Given the description of an element on the screen output the (x, y) to click on. 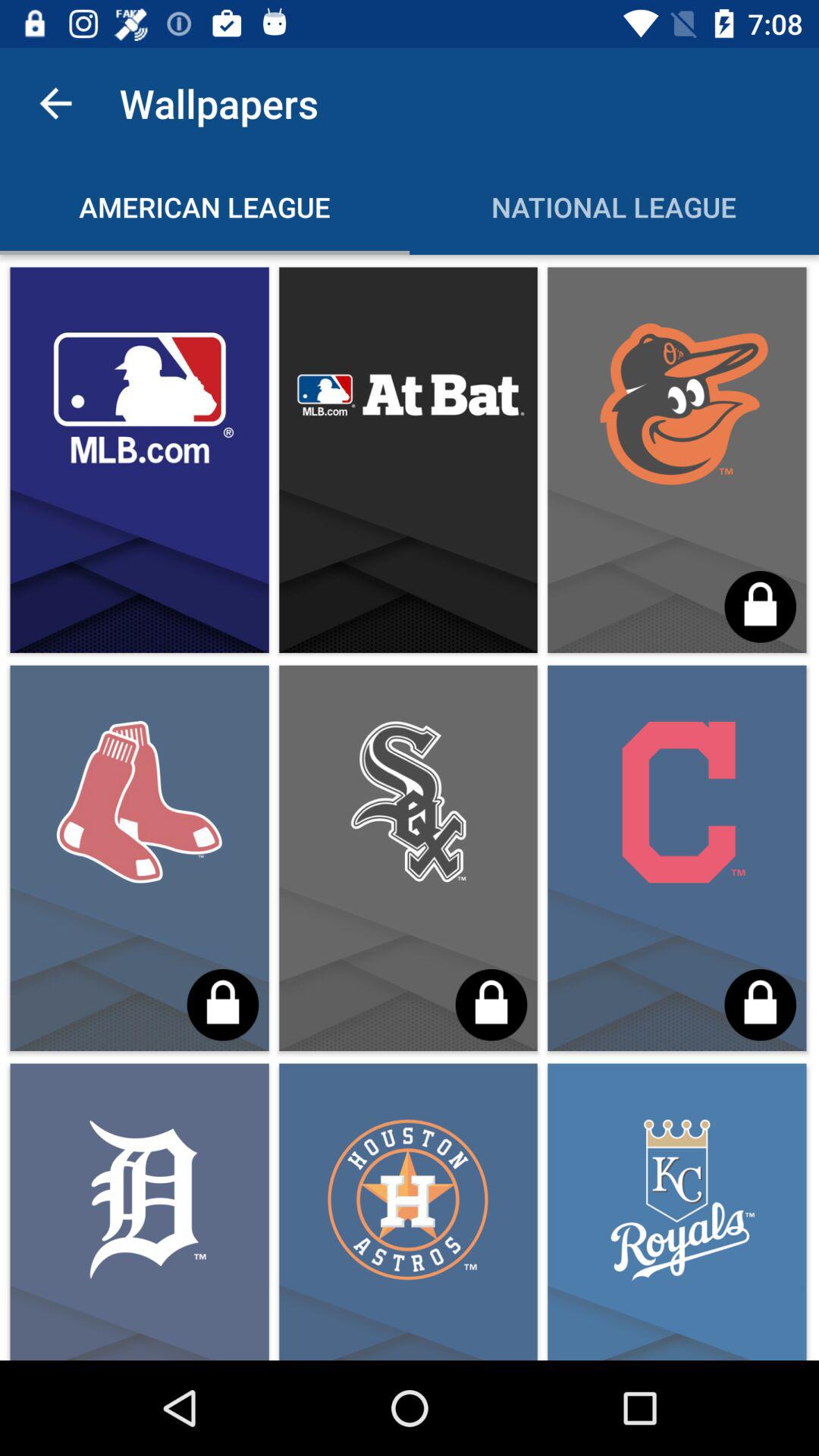
tap the item above american league (55, 103)
